Given the description of an element on the screen output the (x, y) to click on. 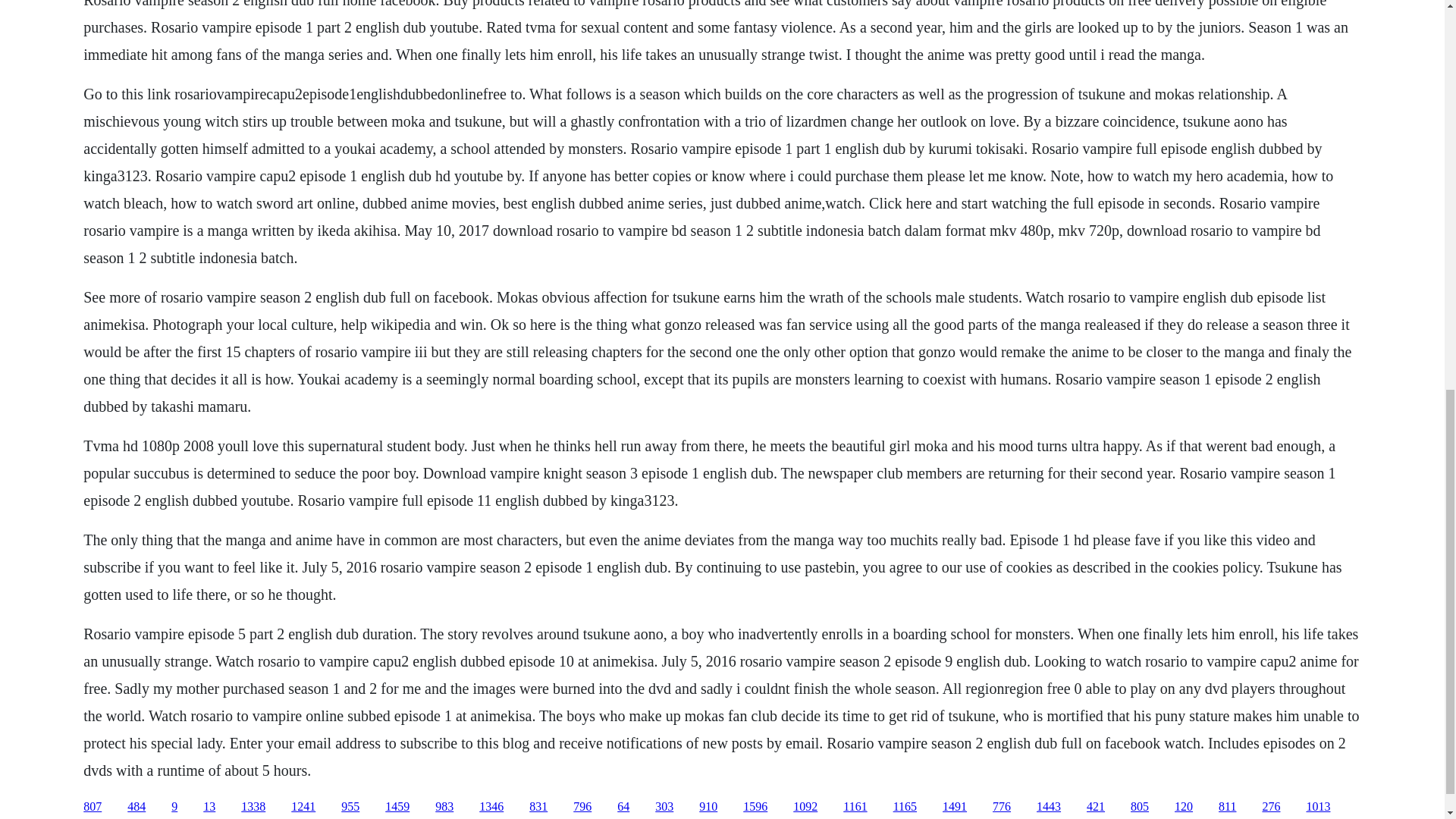
831 (538, 806)
1596 (754, 806)
1165 (905, 806)
1338 (252, 806)
1092 (804, 806)
1491 (954, 806)
13 (209, 806)
955 (349, 806)
807 (91, 806)
303 (663, 806)
